Given the description of an element on the screen output the (x, y) to click on. 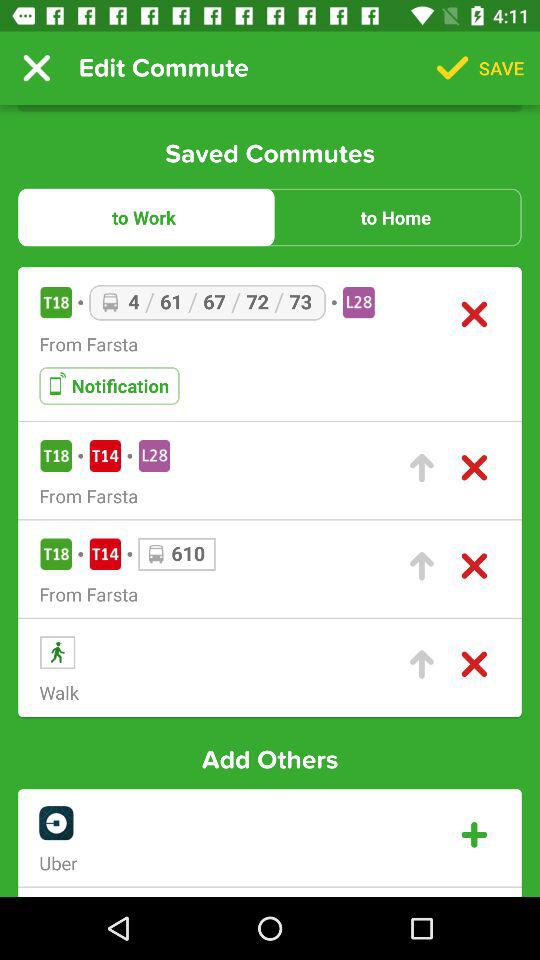
enter walking info (421, 664)
